Given the description of an element on the screen output the (x, y) to click on. 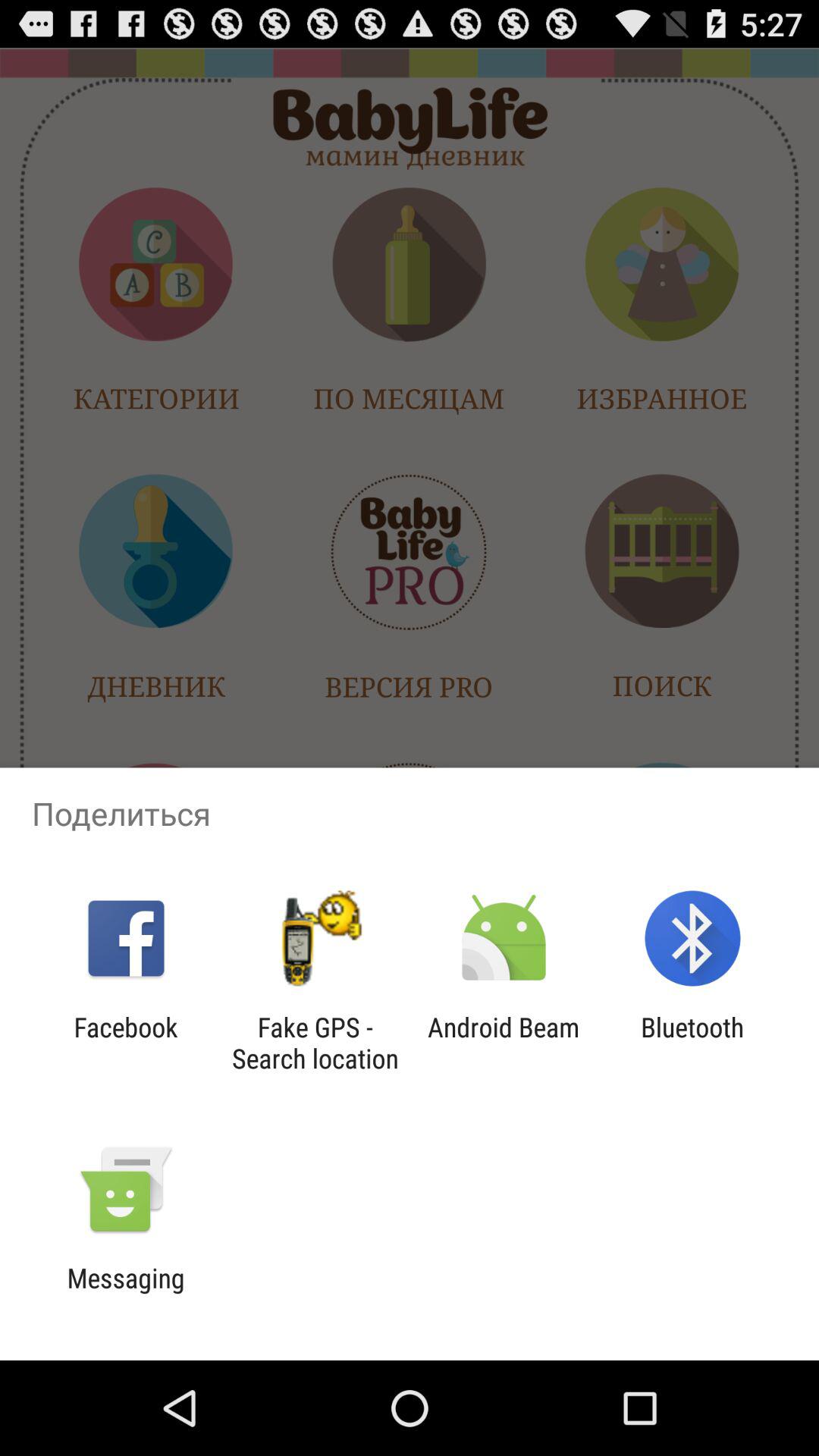
launch the fake gps search icon (314, 1042)
